Given the description of an element on the screen output the (x, y) to click on. 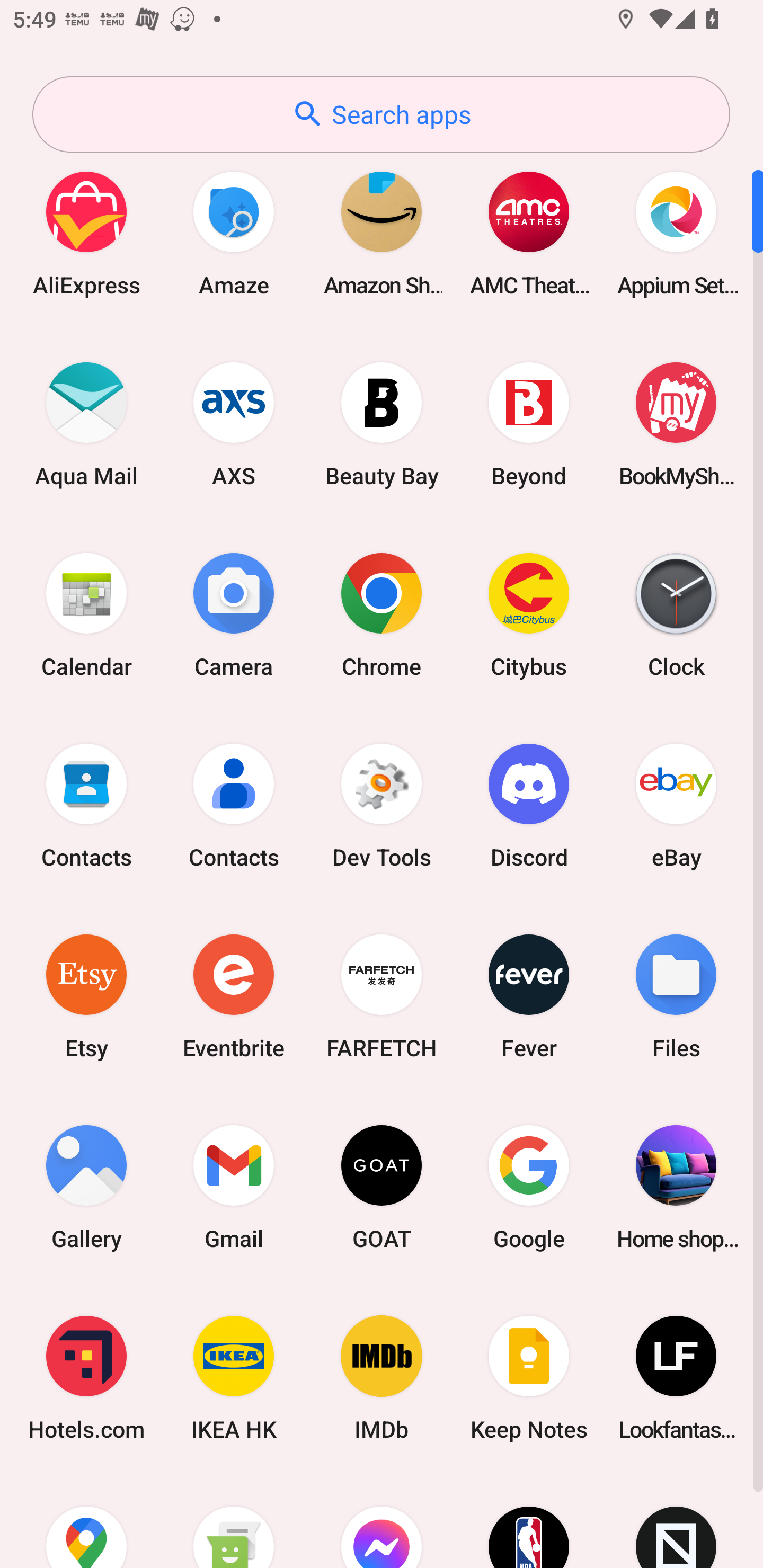
  Search apps (381, 114)
AliExpress (86, 233)
Amaze (233, 233)
Amazon Shopping (381, 233)
AMC Theatres (528, 233)
Appium Settings (676, 233)
Aqua Mail (86, 424)
AXS (233, 424)
Beauty Bay (381, 424)
Beyond (528, 424)
BookMyShow (676, 424)
Calendar (86, 614)
Camera (233, 614)
Chrome (381, 614)
Citybus (528, 614)
Clock (676, 614)
Contacts (86, 805)
Contacts (233, 805)
Dev Tools (381, 805)
Discord (528, 805)
eBay (676, 805)
Etsy (86, 996)
Eventbrite (233, 996)
FARFETCH (381, 996)
Fever (528, 996)
Files (676, 996)
Gallery (86, 1186)
Gmail (233, 1186)
GOAT (381, 1186)
Google (528, 1186)
Home shopping (676, 1186)
Hotels.com (86, 1377)
IKEA HK (233, 1377)
IMDb (381, 1377)
Keep Notes (528, 1377)
Lookfantastic (676, 1377)
Maps (86, 1520)
Messaging (233, 1520)
Messenger (381, 1520)
NBA (528, 1520)
Novelship (676, 1520)
